Given the description of an element on the screen output the (x, y) to click on. 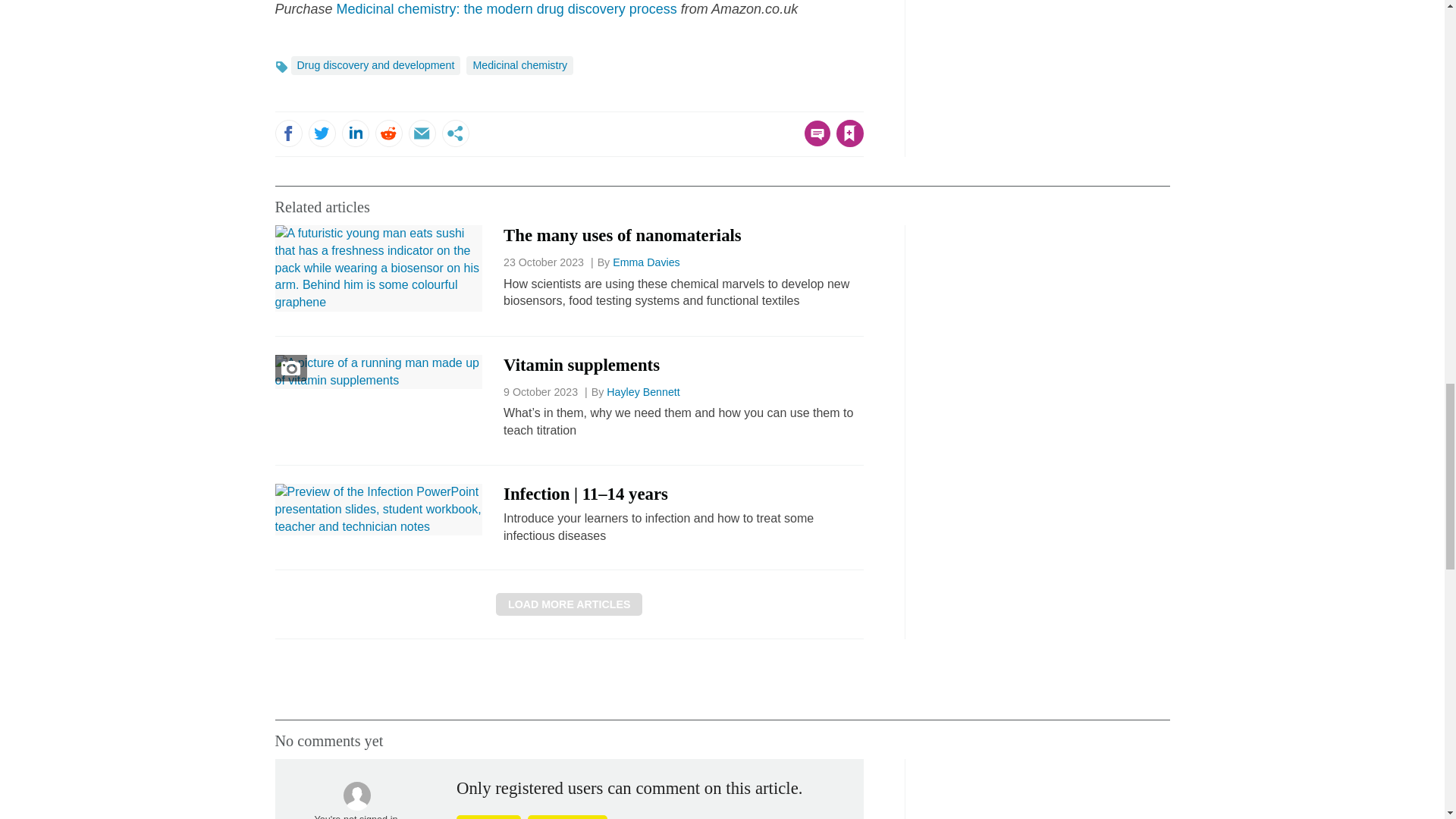
Share this on Reddit (387, 133)
Share this on LinkedIn (354, 133)
Share this on Facebook (288, 133)
More share options (454, 133)
No comments (812, 142)
Share this on Twitter (320, 133)
Share this by email (421, 133)
